Given the description of an element on the screen output the (x, y) to click on. 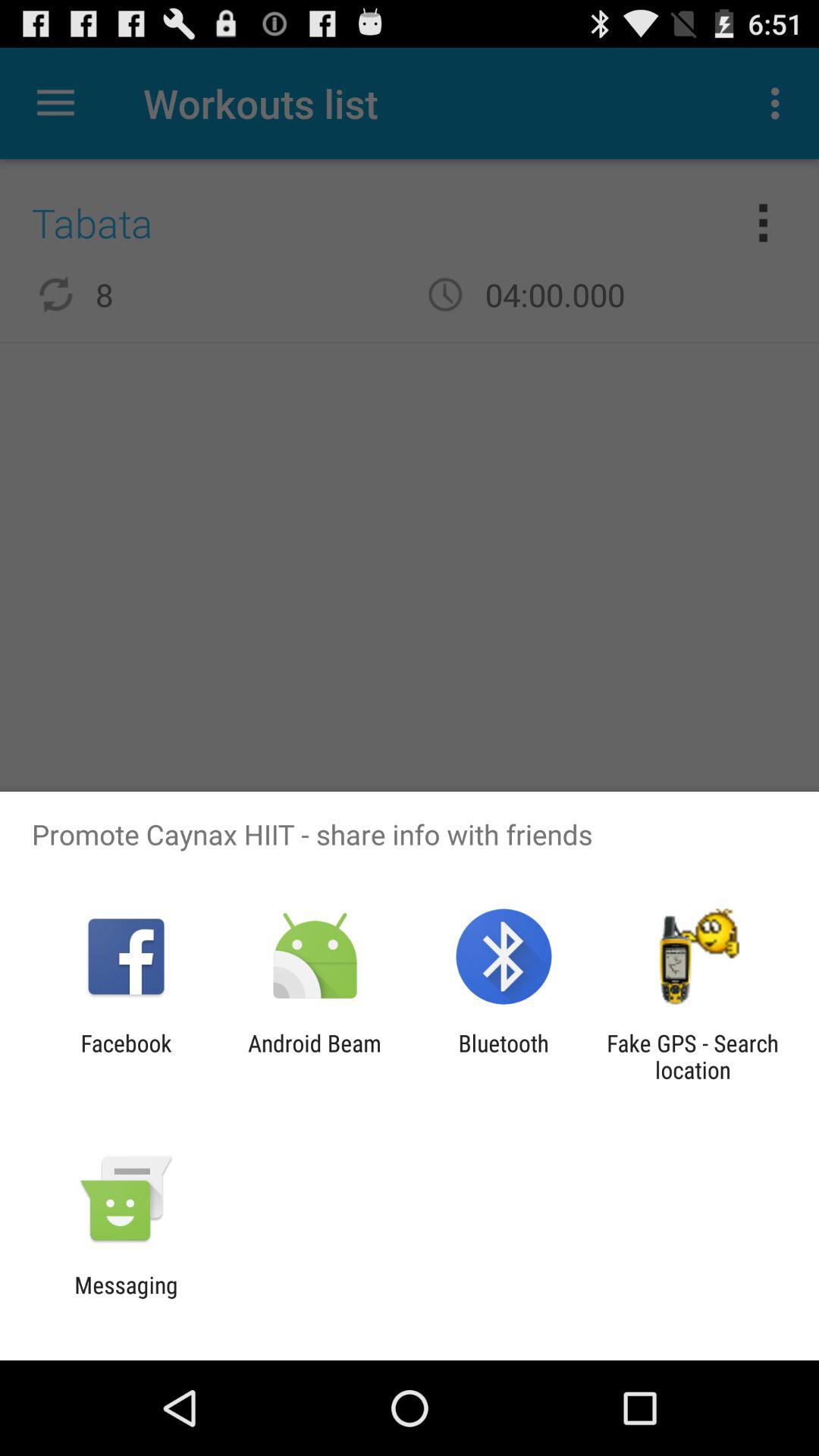
click the fake gps search (692, 1056)
